Given the description of an element on the screen output the (x, y) to click on. 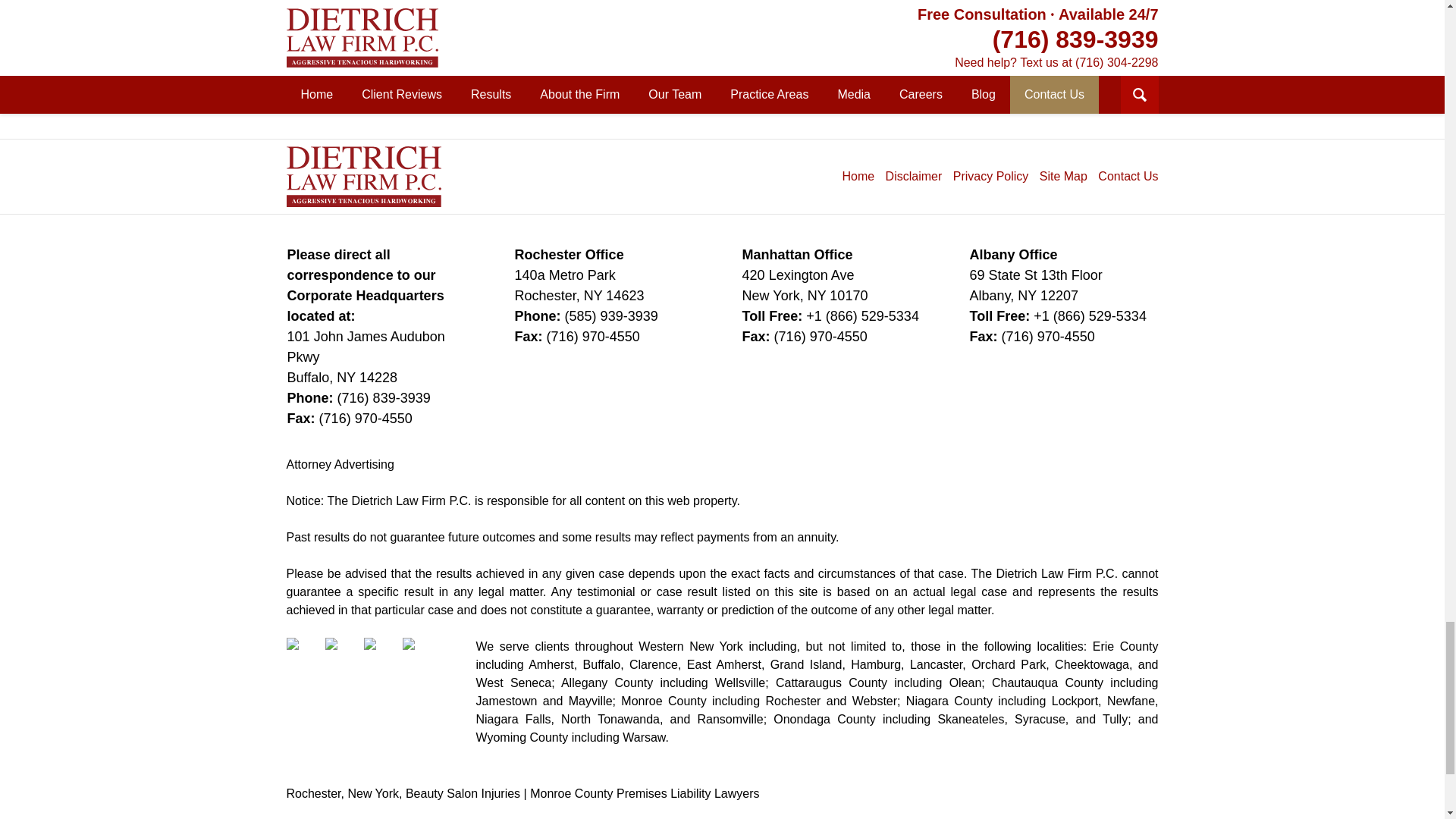
Facebook (303, 655)
LinkedIn (381, 655)
Twitter (341, 655)
Justia (420, 655)
